Given the description of an element on the screen output the (x, y) to click on. 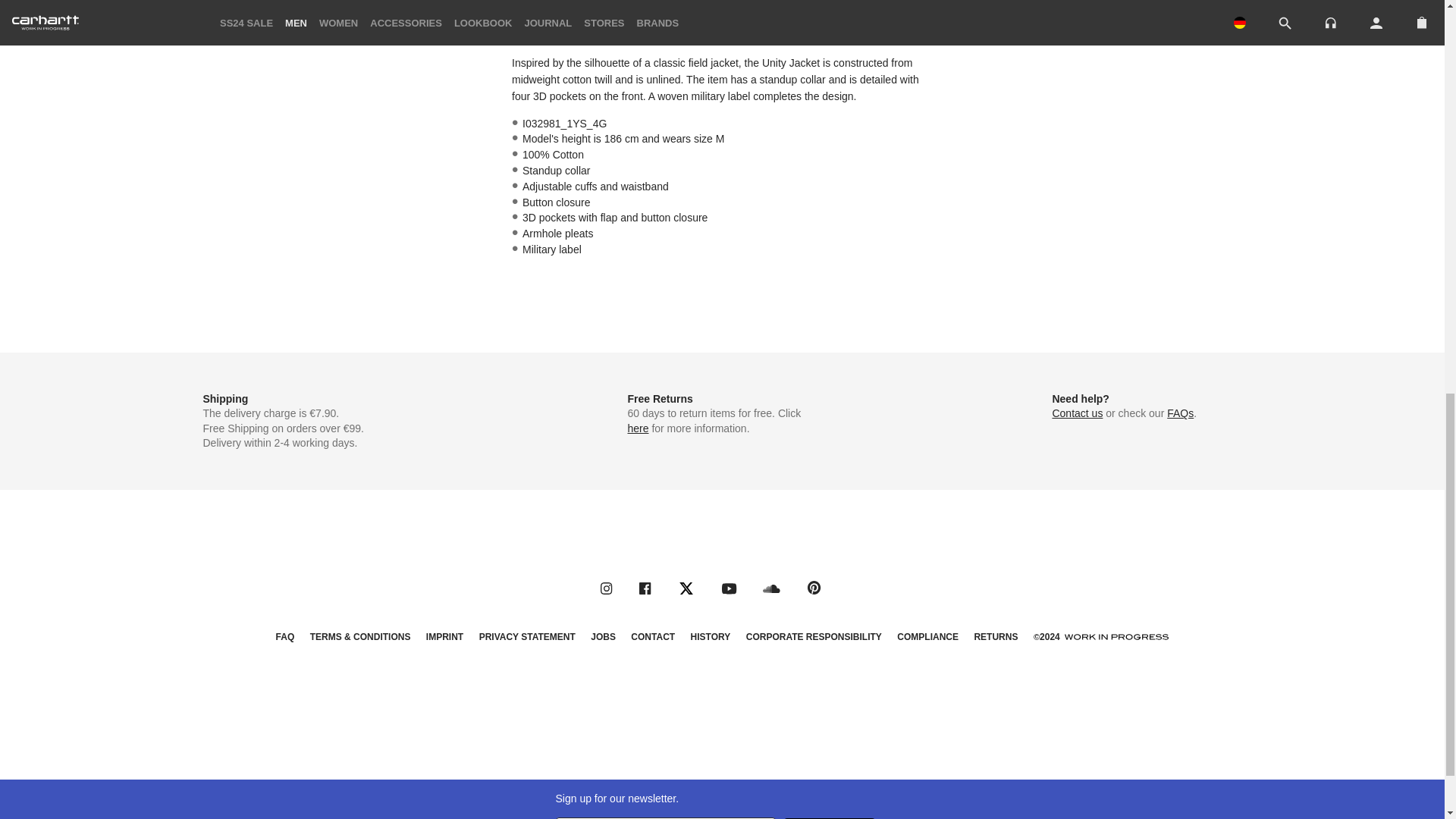
Social-facebook Created with Sketch. (644, 588)
Social-Twitter (686, 588)
Social-Soundcloud Created with Sketch. (771, 589)
Social-Pinterest Created with Sketch. (814, 587)
